Given the description of an element on the screen output the (x, y) to click on. 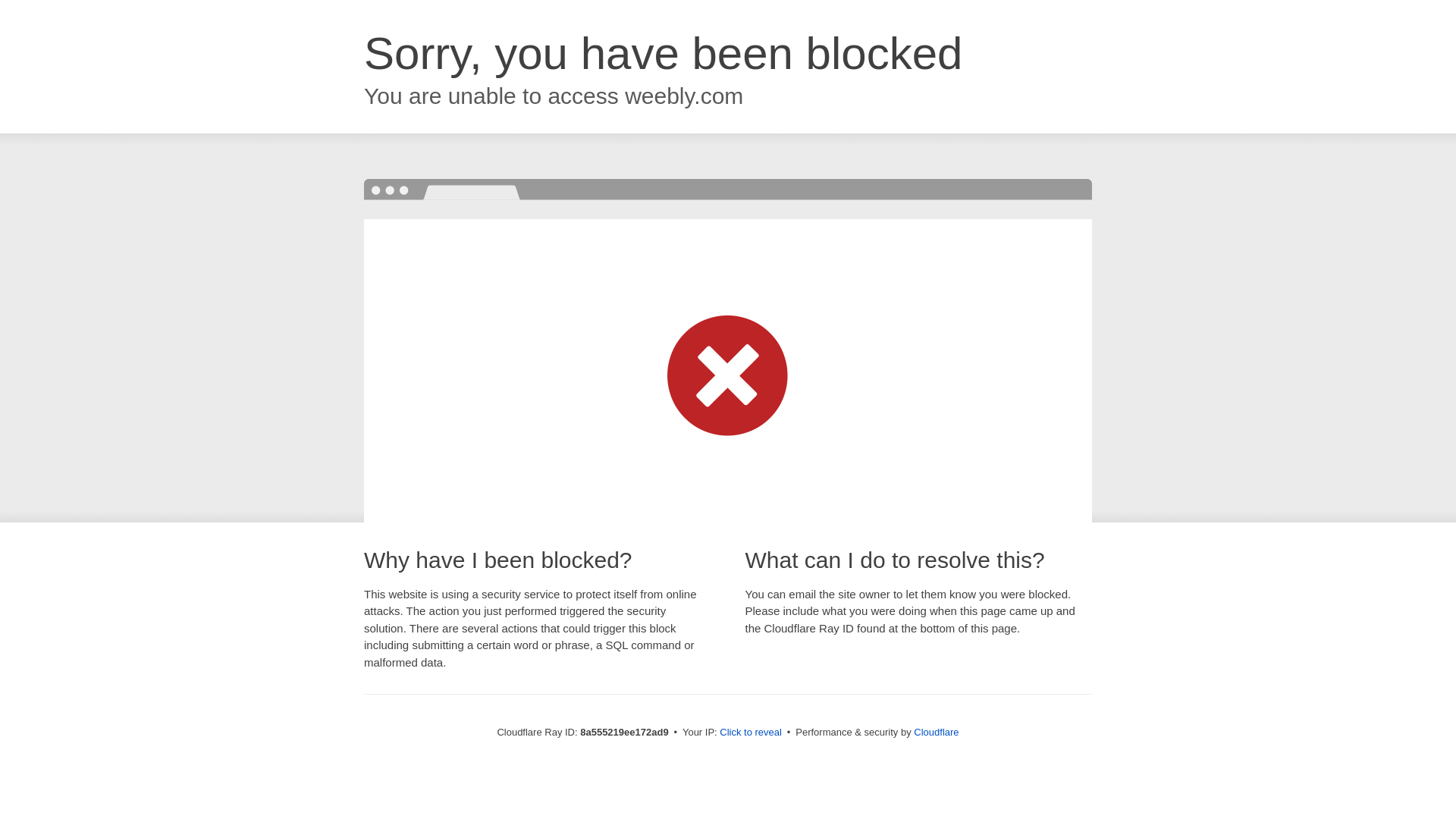
Cloudflare (936, 731)
Click to reveal (750, 732)
